Given the description of an element on the screen output the (x, y) to click on. 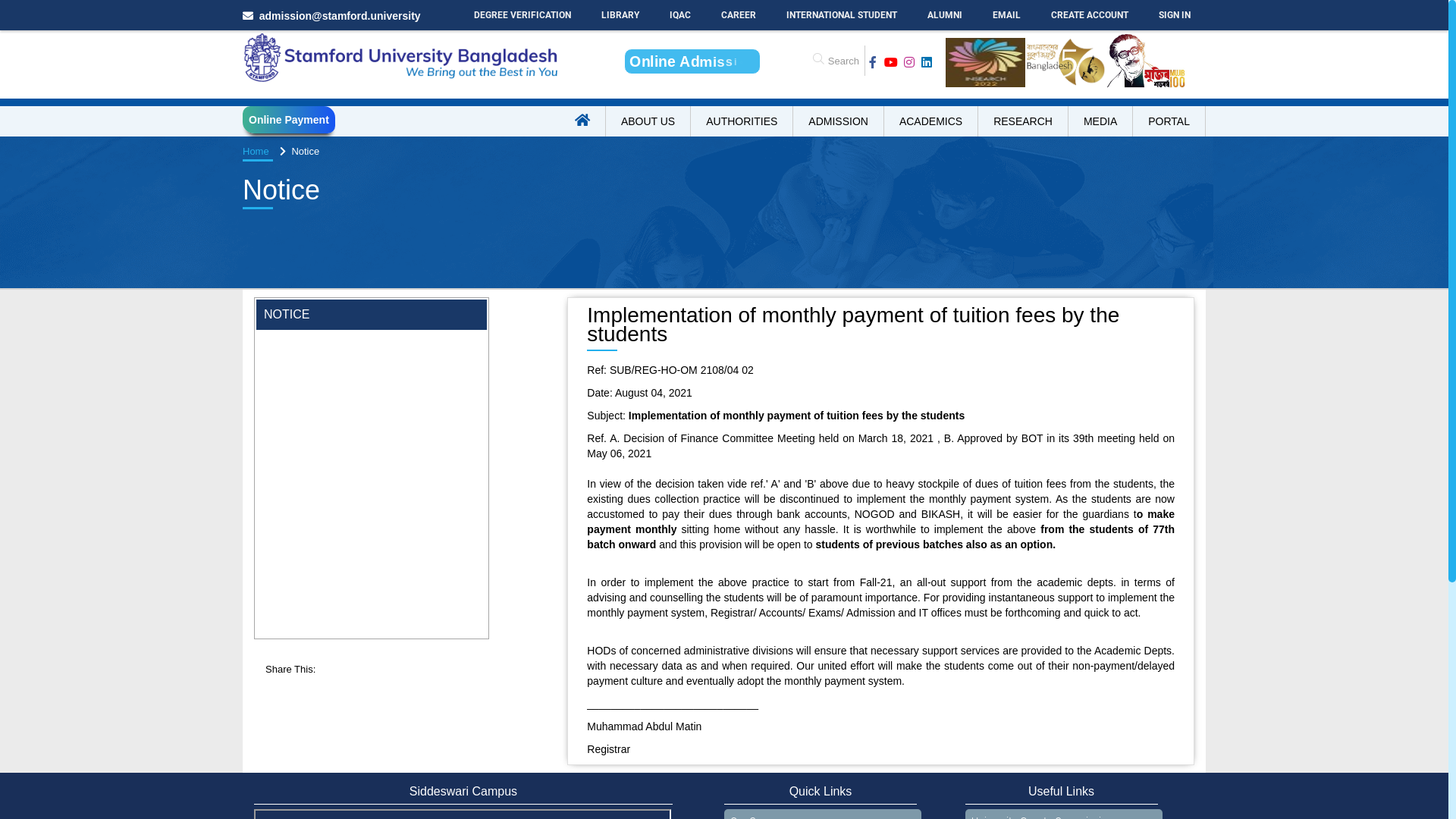
QS World University Ranking-2024 Element type: text (345, 363)
DEGREE VERIFICATION Element type: text (522, 14)
Onli Element type: text (692, 61)
Final Examination of Summer- 2023 Semester Element type: text (348, 158)
Onli Element type: text (692, 61)
CREATE ACCOUNT Element type: text (1089, 14)
SIGN IN Element type: text (1174, 14)
RESEARCH Element type: text (1023, 121)
PORTAL Element type: text (1168, 121)
IQAC Element type: text (680, 14)
EMAIL Element type: text (1006, 14)
ADMISSION Element type: text (838, 121)
CAREER Element type: text (738, 14)
LIBRARY Element type: text (620, 14)
INTERNATIONAL STUDENT Element type: text (841, 14)
AUTHORITIES Element type: text (741, 121)
ABOUT US Element type: text (647, 121)
ALUMNI Element type: text (944, 14)
ACADEMICS Element type: text (931, 121)
Online Payment Element type: text (288, 119)
MEDIA Element type: text (1100, 121)
